Given the description of an element on the screen output the (x, y) to click on. 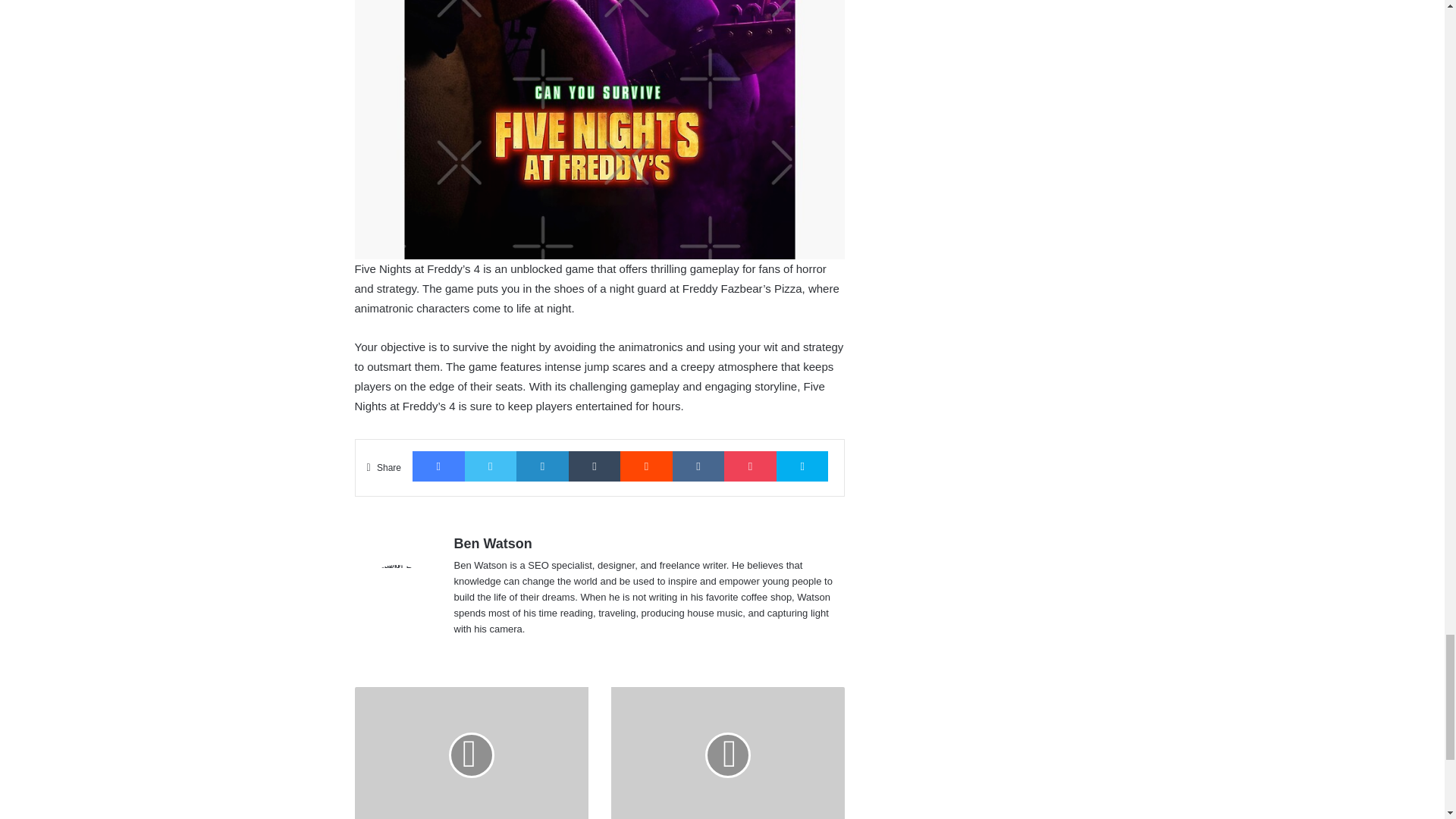
VKontakte (698, 466)
Reddit (646, 466)
Pocket (749, 466)
Facebook (438, 466)
Pocket (749, 466)
Facebook (438, 466)
Reddit (646, 466)
Tumblr (595, 466)
Skype (802, 466)
Ben Watson (491, 543)
